Given the description of an element on the screen output the (x, y) to click on. 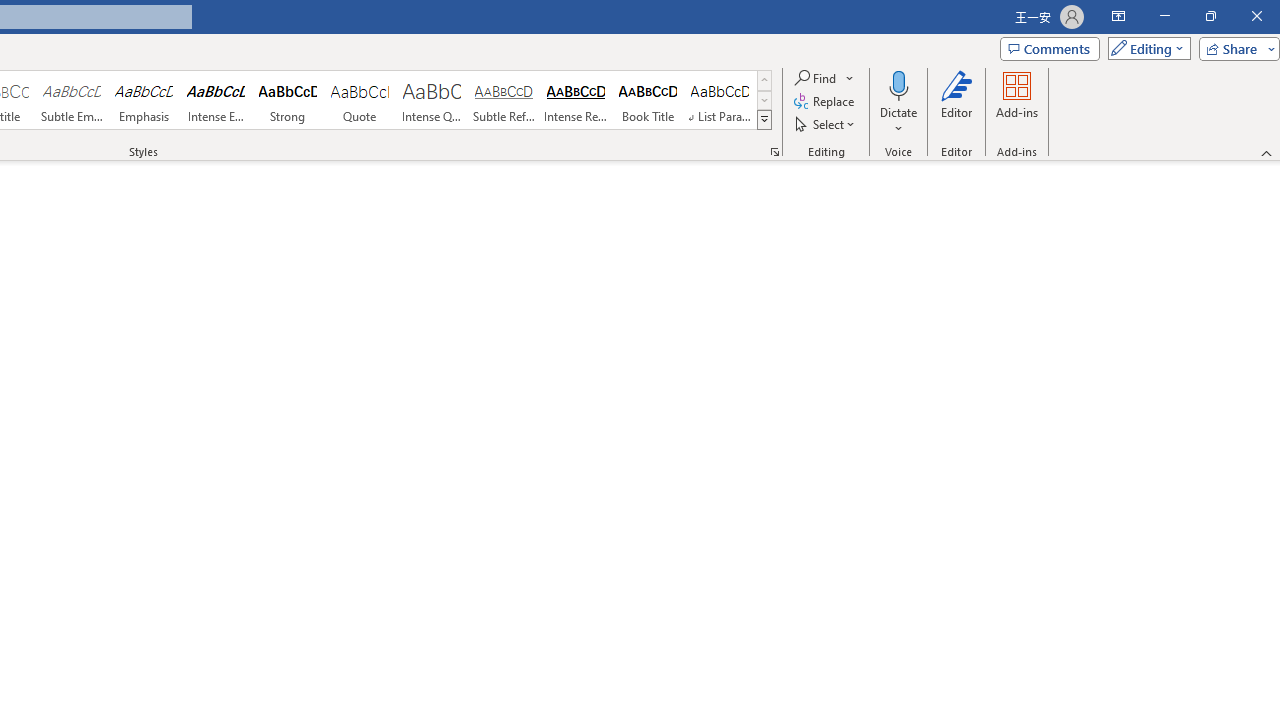
Quote (359, 100)
Subtle Reference (504, 100)
Intense Quote (431, 100)
